Given the description of an element on the screen output the (x, y) to click on. 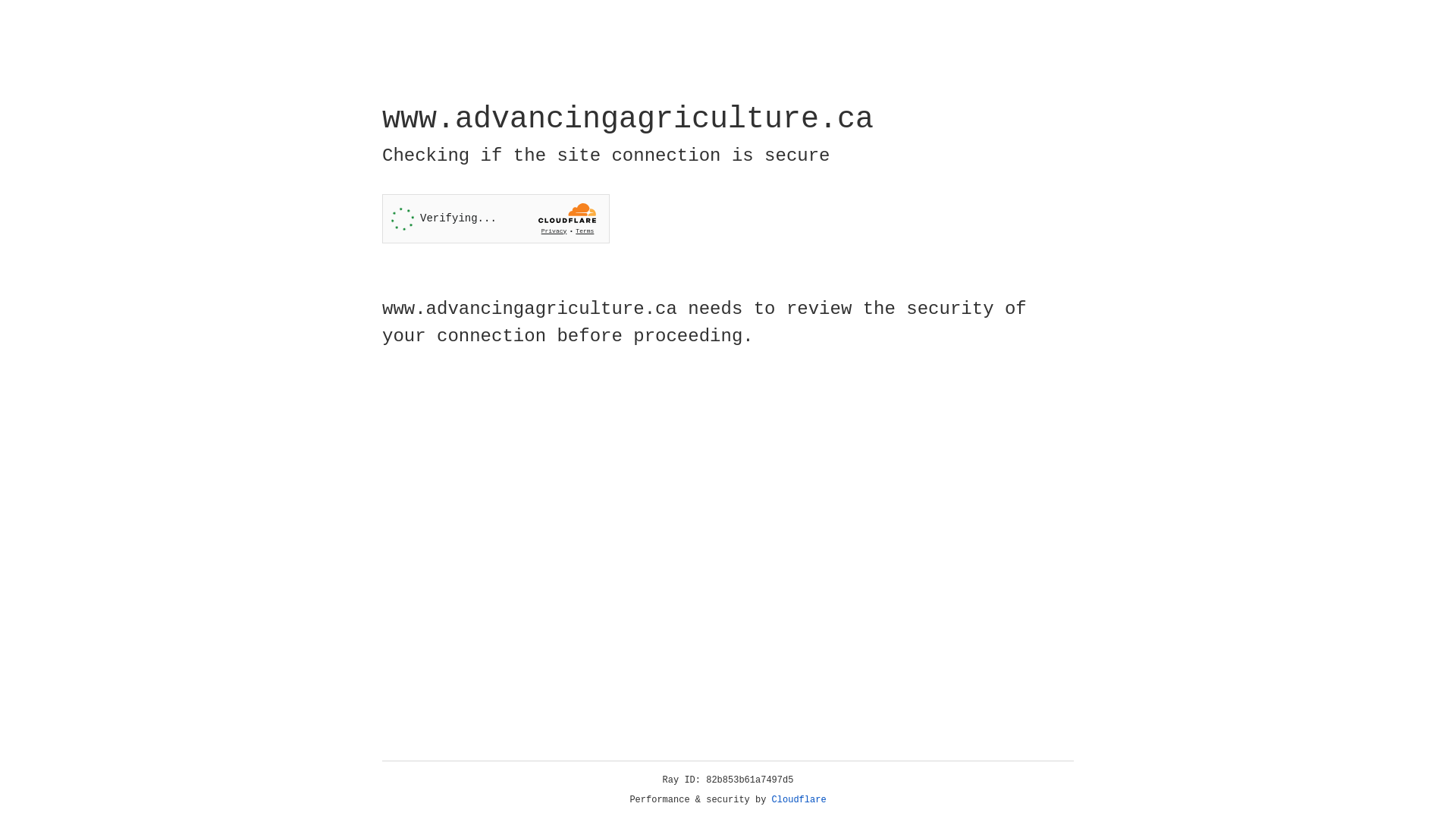
Widget containing a Cloudflare security challenge Element type: hover (495, 218)
Cloudflare Element type: text (798, 799)
